Given the description of an element on the screen output the (x, y) to click on. 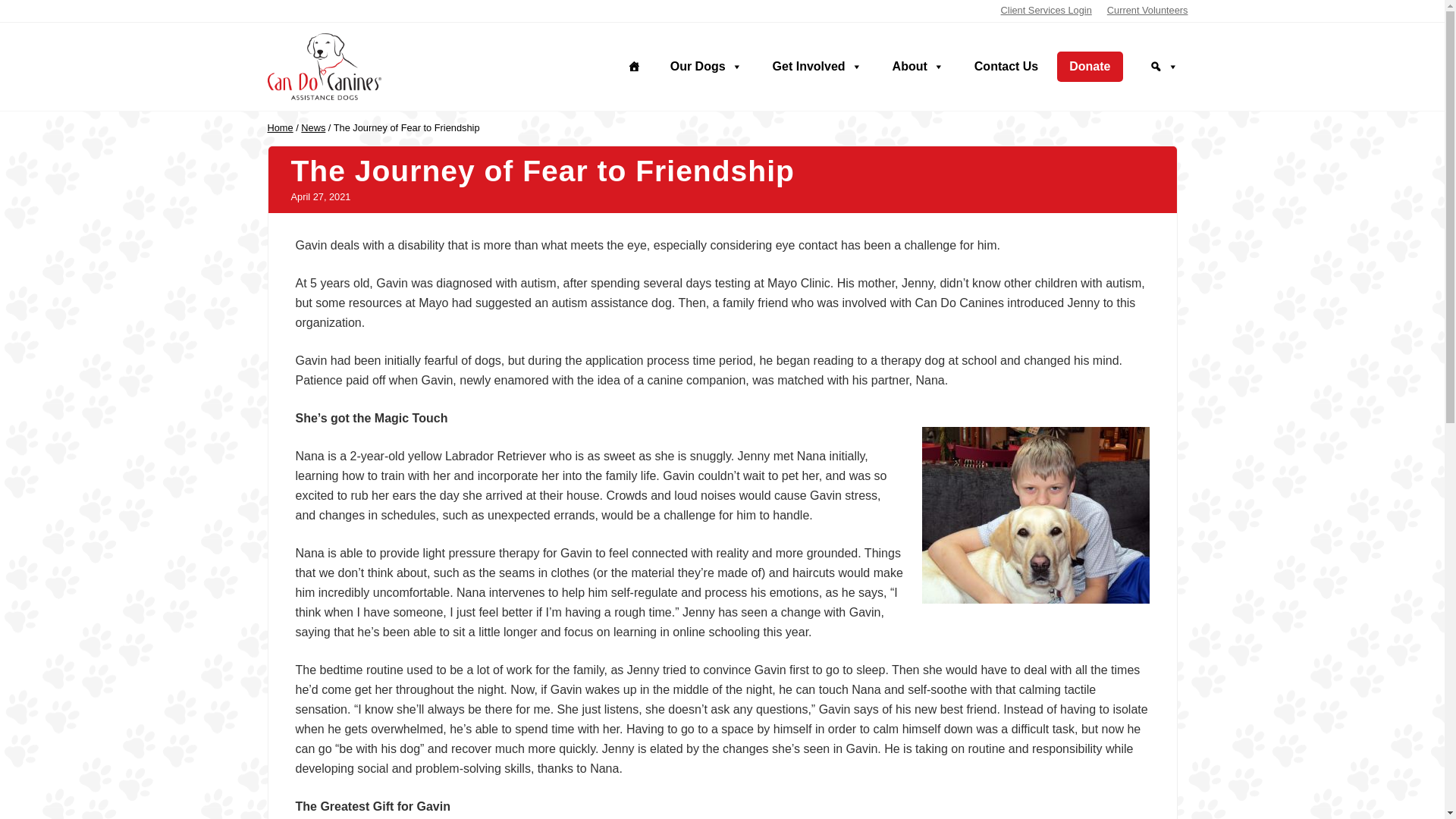
Search (1163, 66)
Current Volunteers (1147, 11)
Client Services Login (1045, 11)
Get Involved (817, 66)
Our Dogs (706, 66)
